Given the description of an element on the screen output the (x, y) to click on. 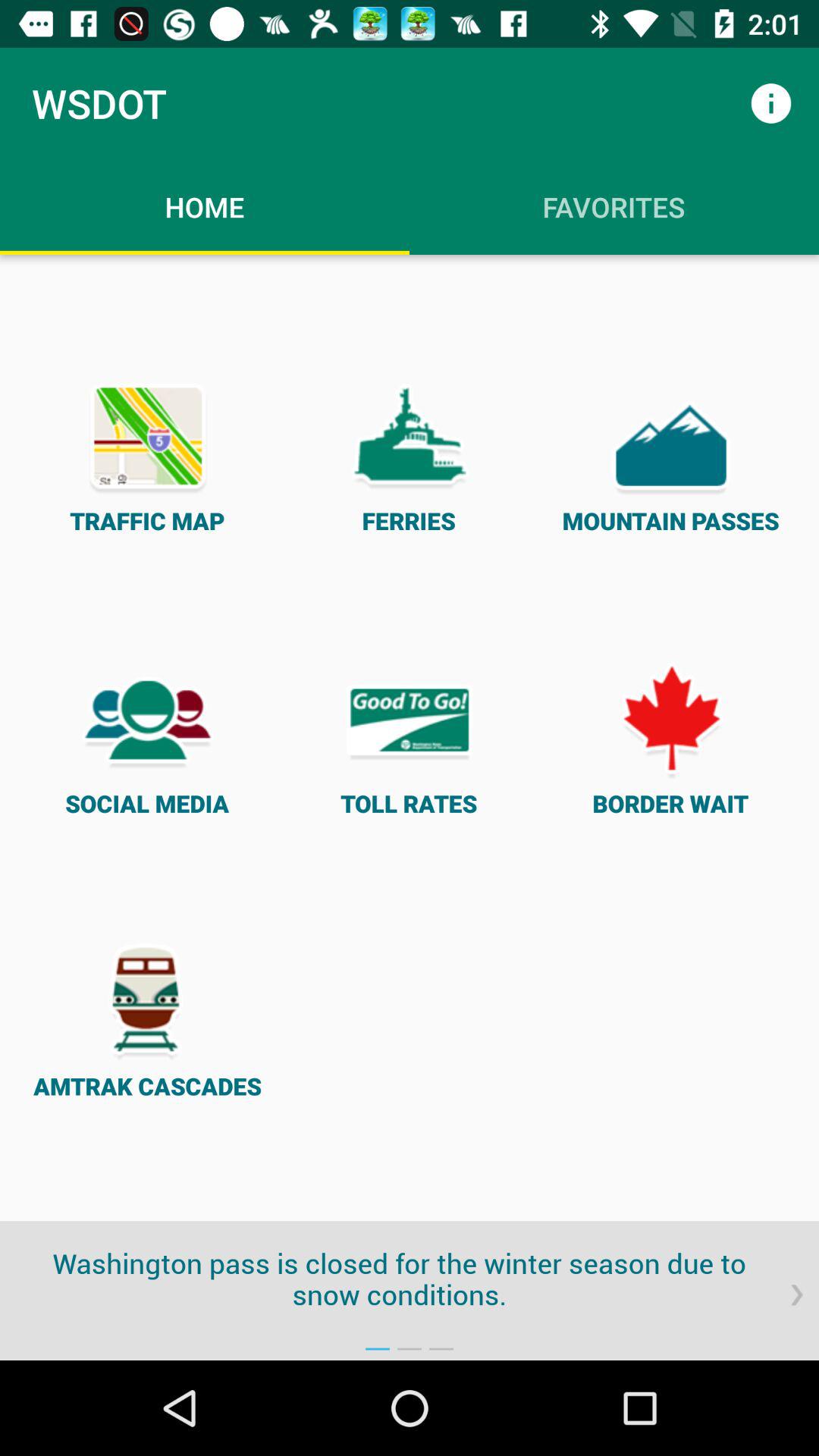
turn off icon next to wsdot item (771, 103)
